Given the description of an element on the screen output the (x, y) to click on. 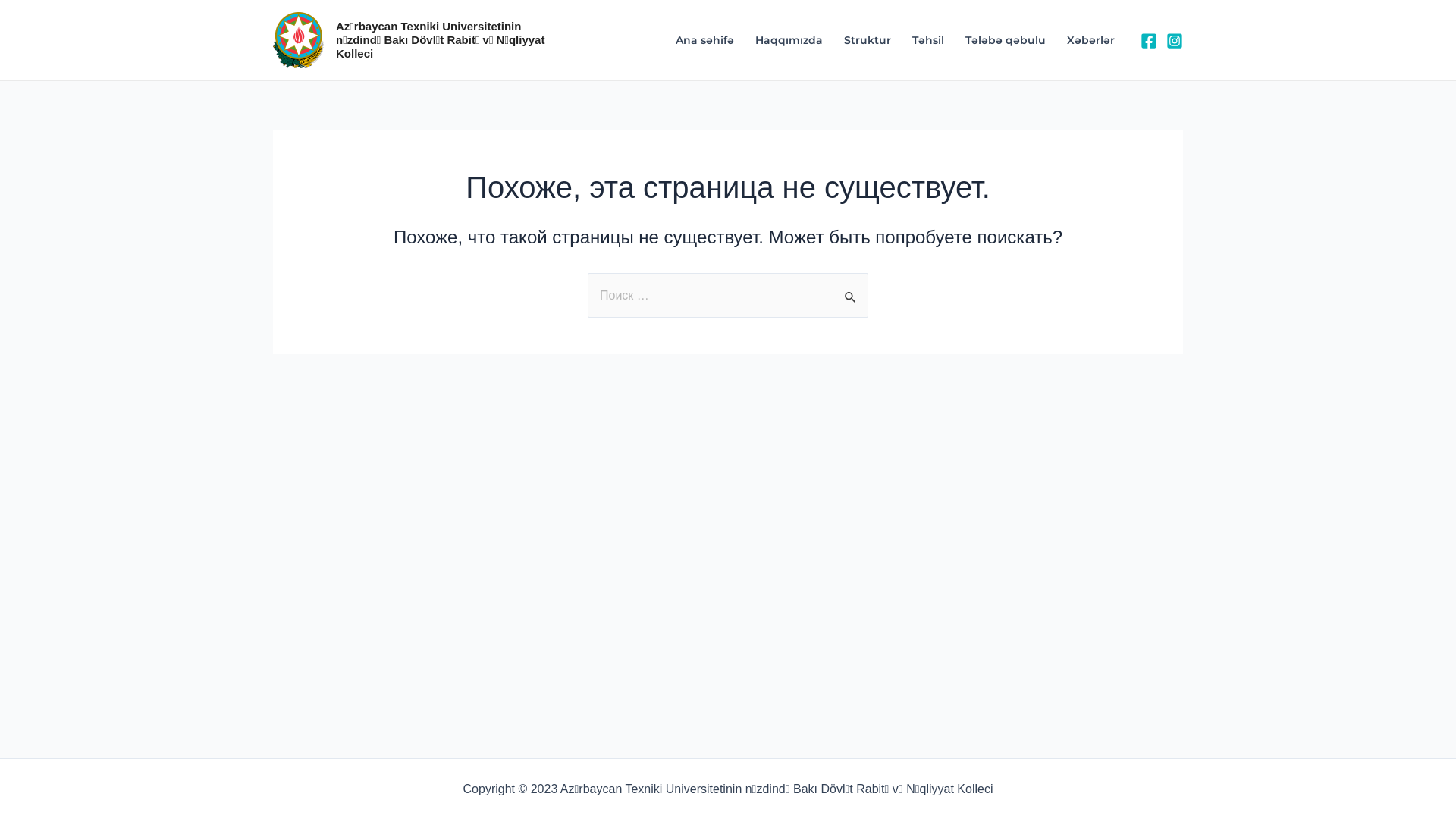
Struktur Element type: text (867, 39)
